Given the description of an element on the screen output the (x, y) to click on. 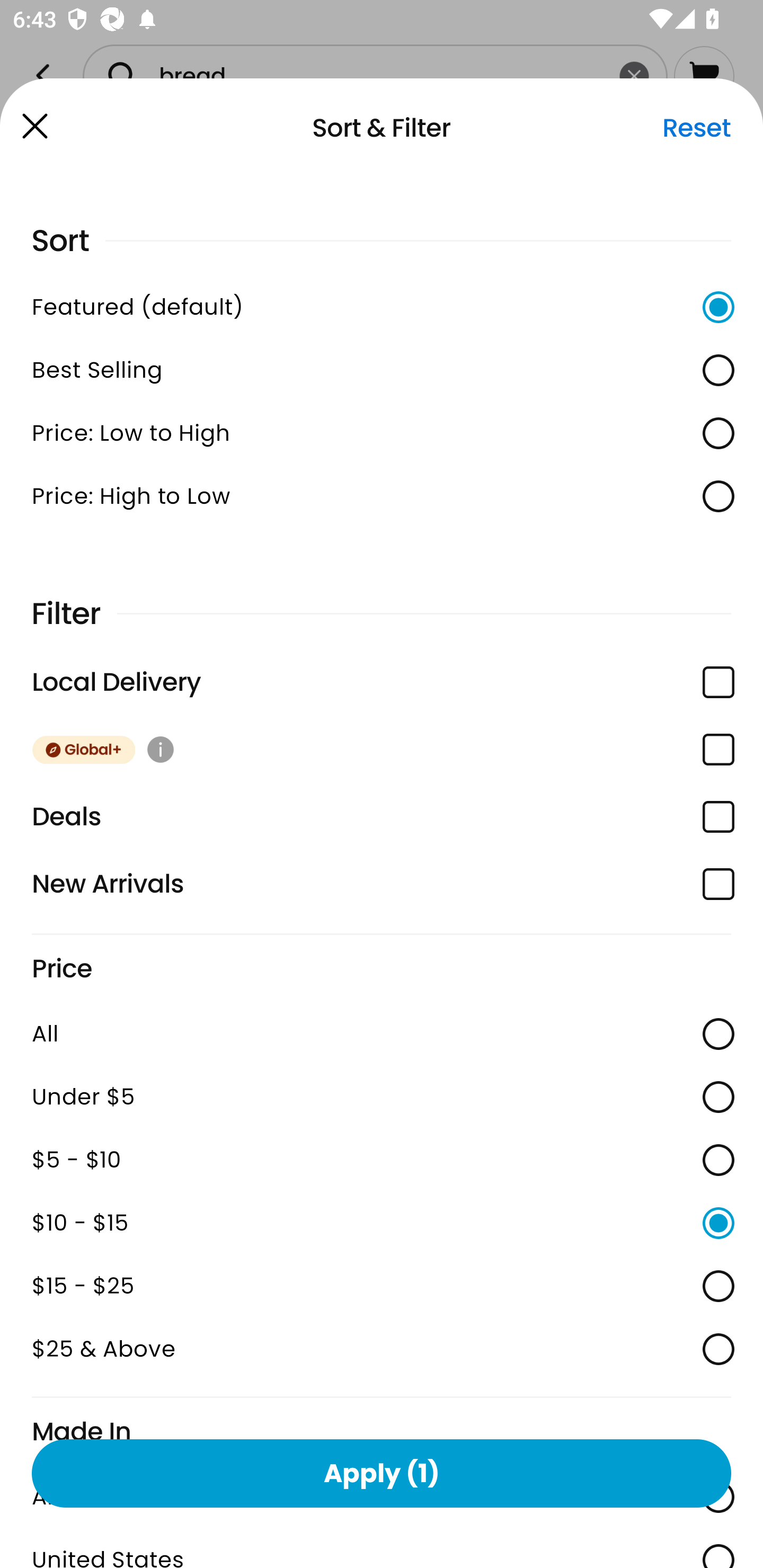
Reset (696, 127)
Apply (1) (381, 1472)
